Given the description of an element on the screen output the (x, y) to click on. 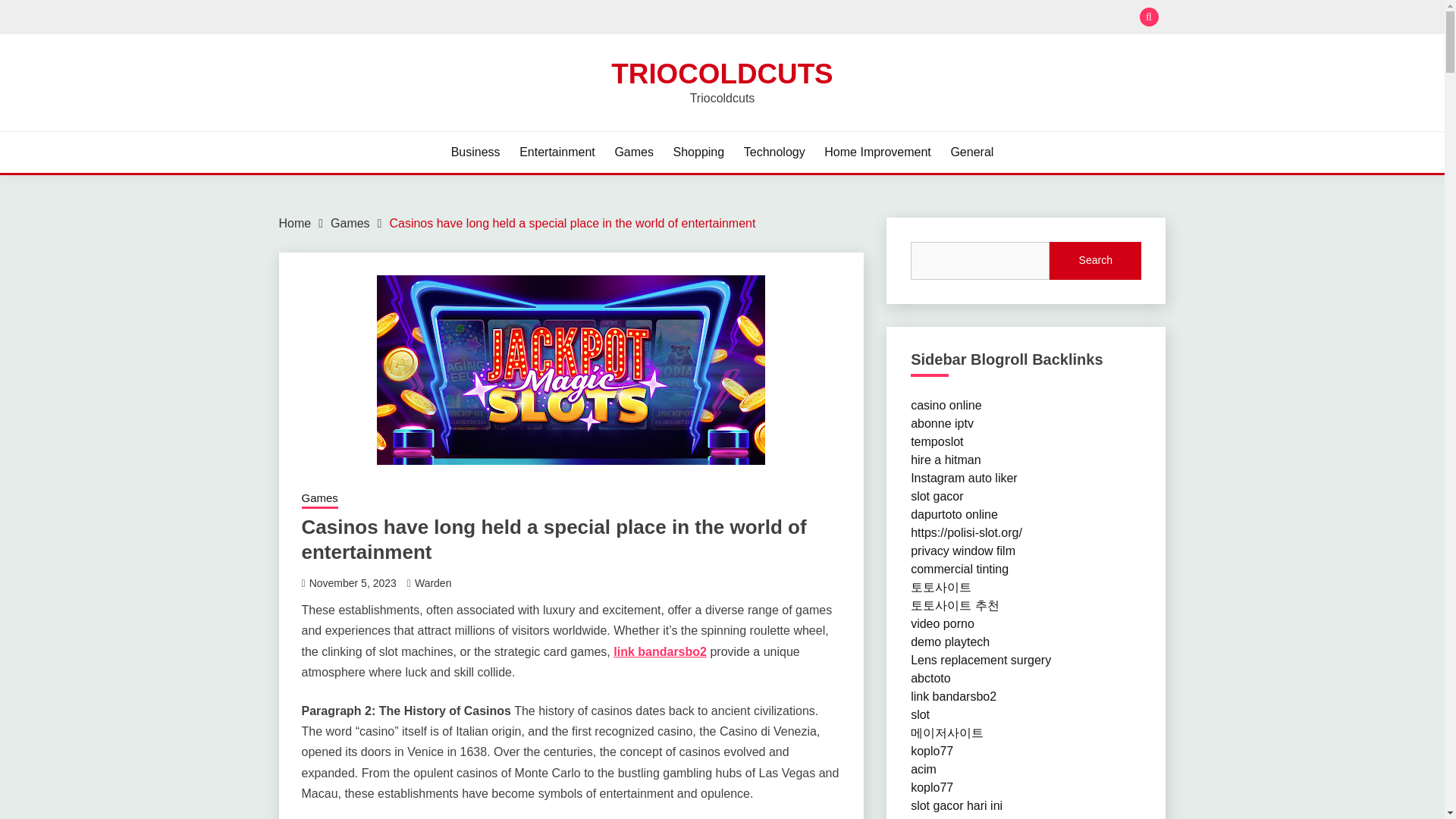
Entertainment (557, 152)
casino online (946, 404)
Home Improvement (877, 152)
Warden (432, 582)
November 5, 2023 (352, 582)
Technology (774, 152)
Games (349, 223)
Search (832, 18)
Games (633, 152)
